Given the description of an element on the screen output the (x, y) to click on. 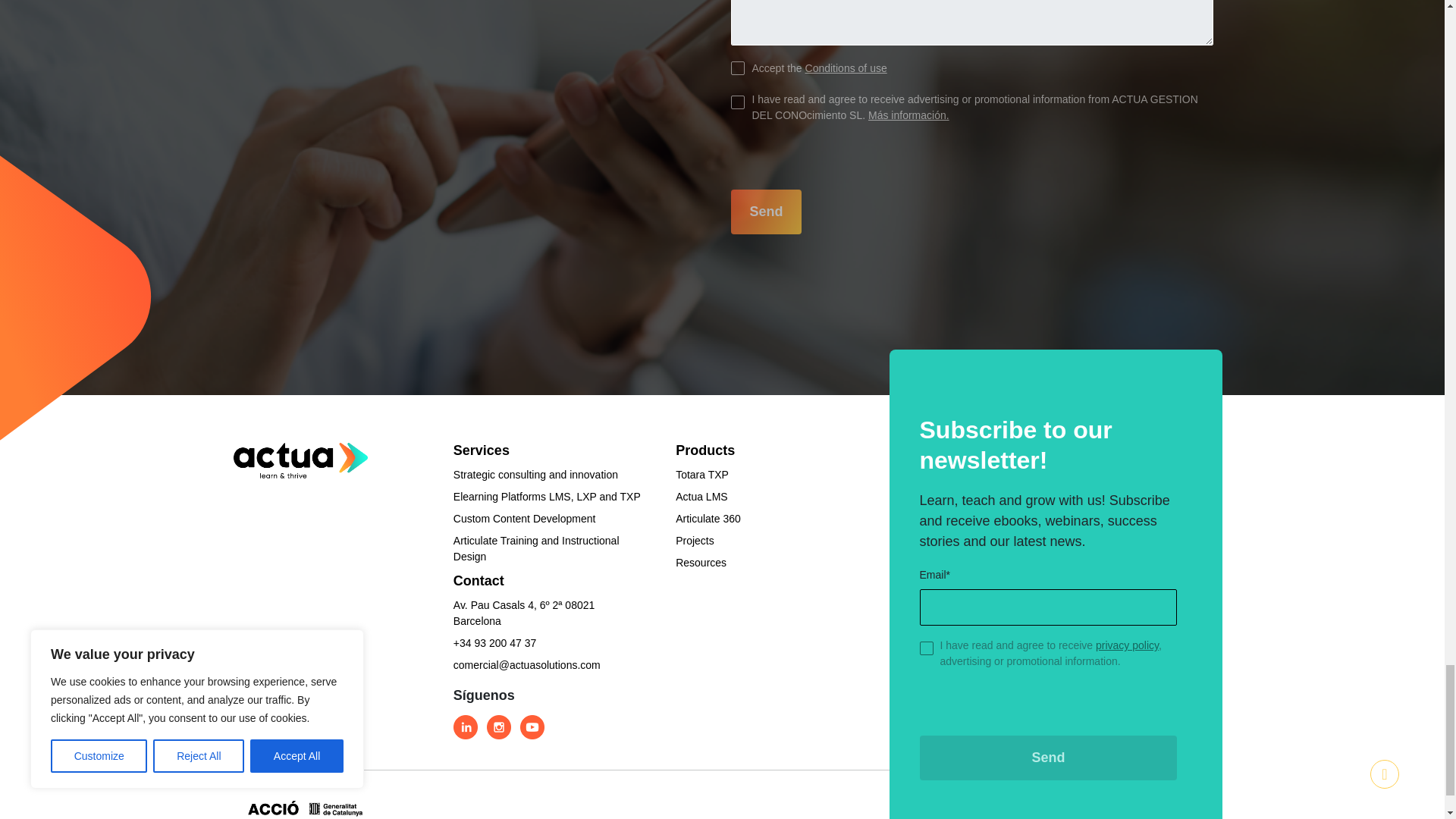
on (925, 648)
on (737, 101)
on (737, 68)
